Given the description of an element on the screen output the (x, y) to click on. 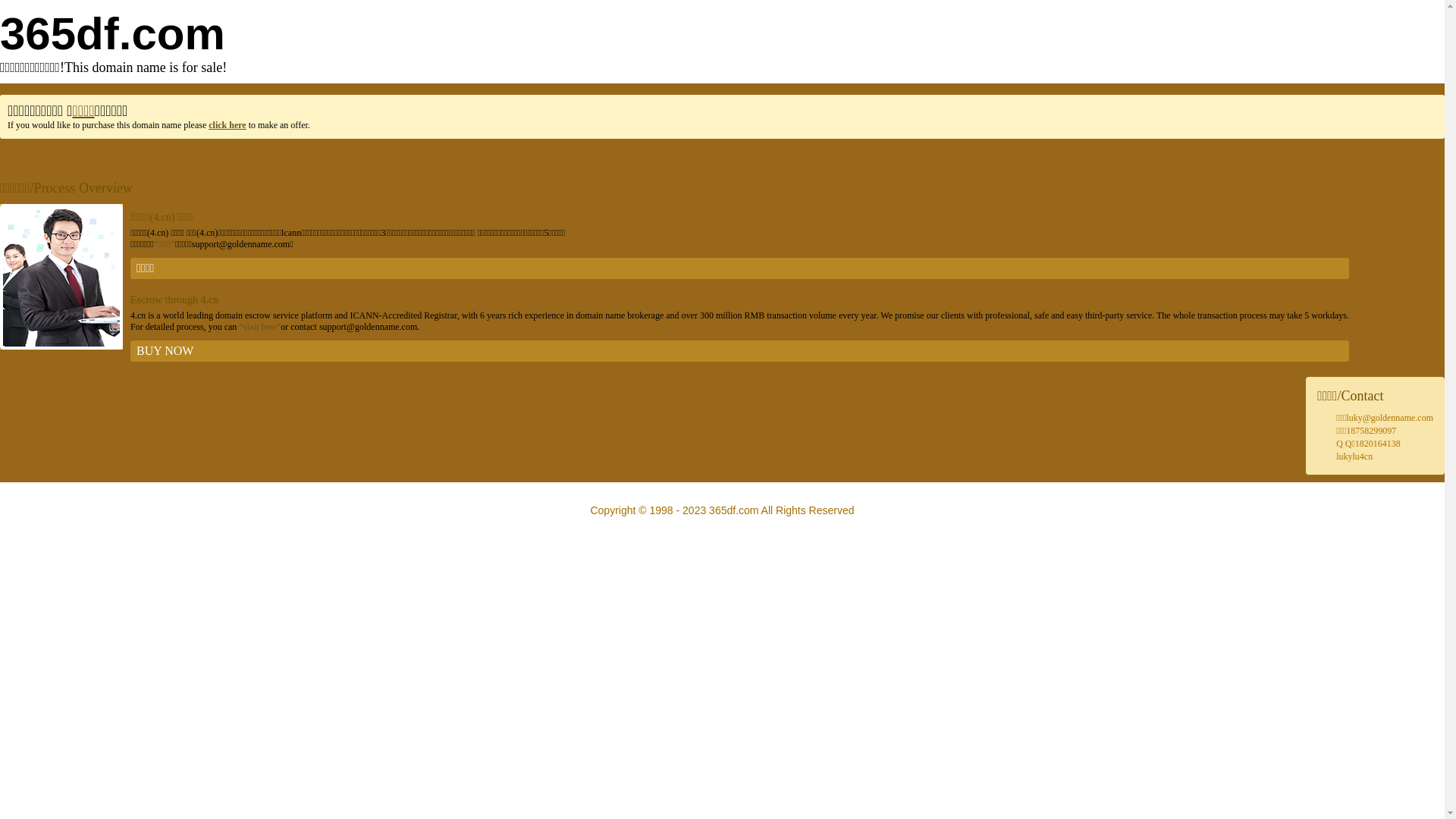
click here Element type: text (226, 124)
BUY NOW Element type: text (739, 350)
